Given the description of an element on the screen output the (x, y) to click on. 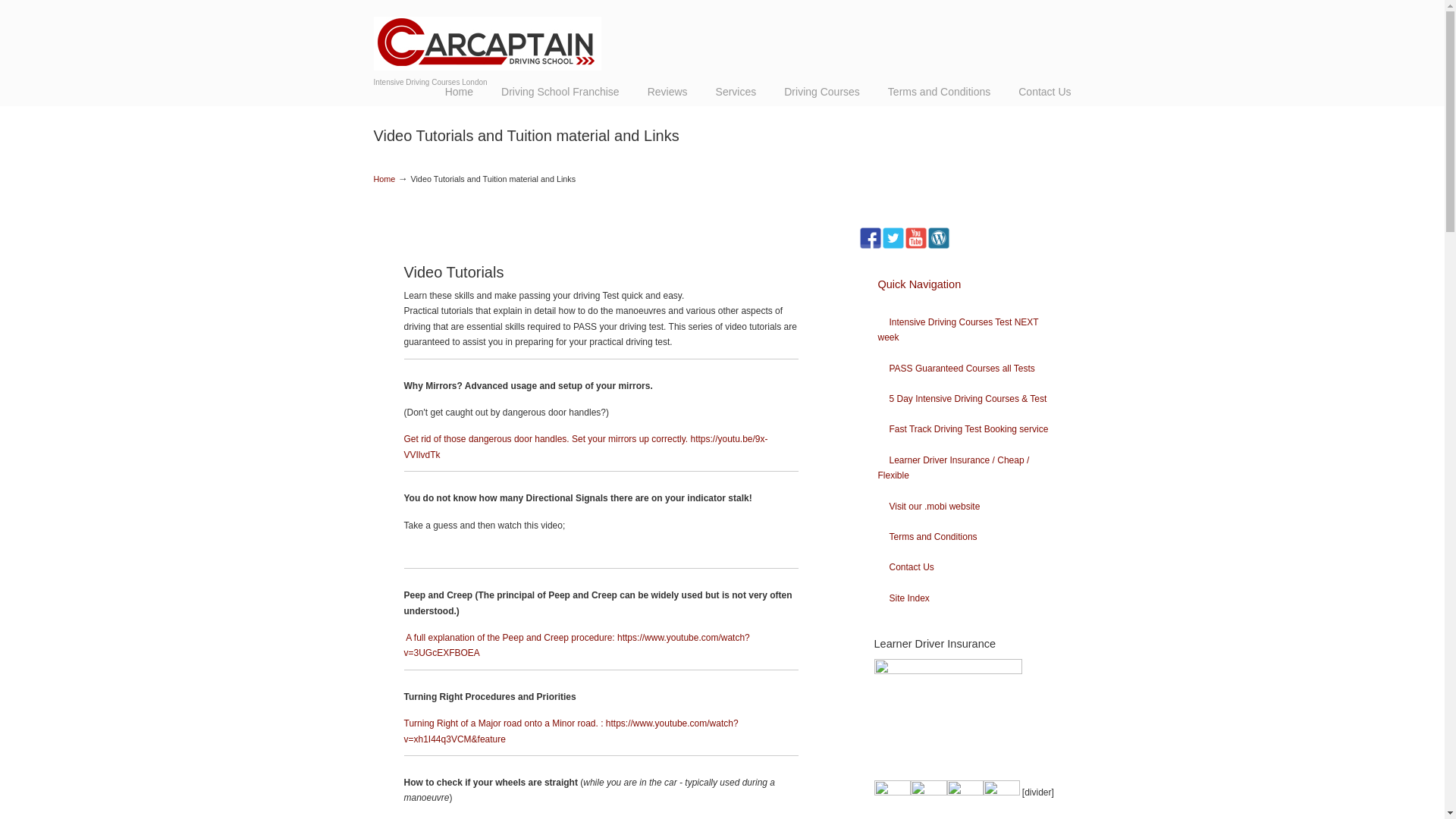
Driving School Franchise (560, 91)
Peep and Creep driving (576, 645)
Services (735, 91)
Carcaptain intensive driving courses Turning Right (570, 730)
Reviews (667, 91)
facebook (869, 237)
Driving Courses (821, 91)
Facebook (869, 245)
Carcaptain Intensive Driving Courses (485, 37)
Home (458, 91)
